Given the description of an element on the screen output the (x, y) to click on. 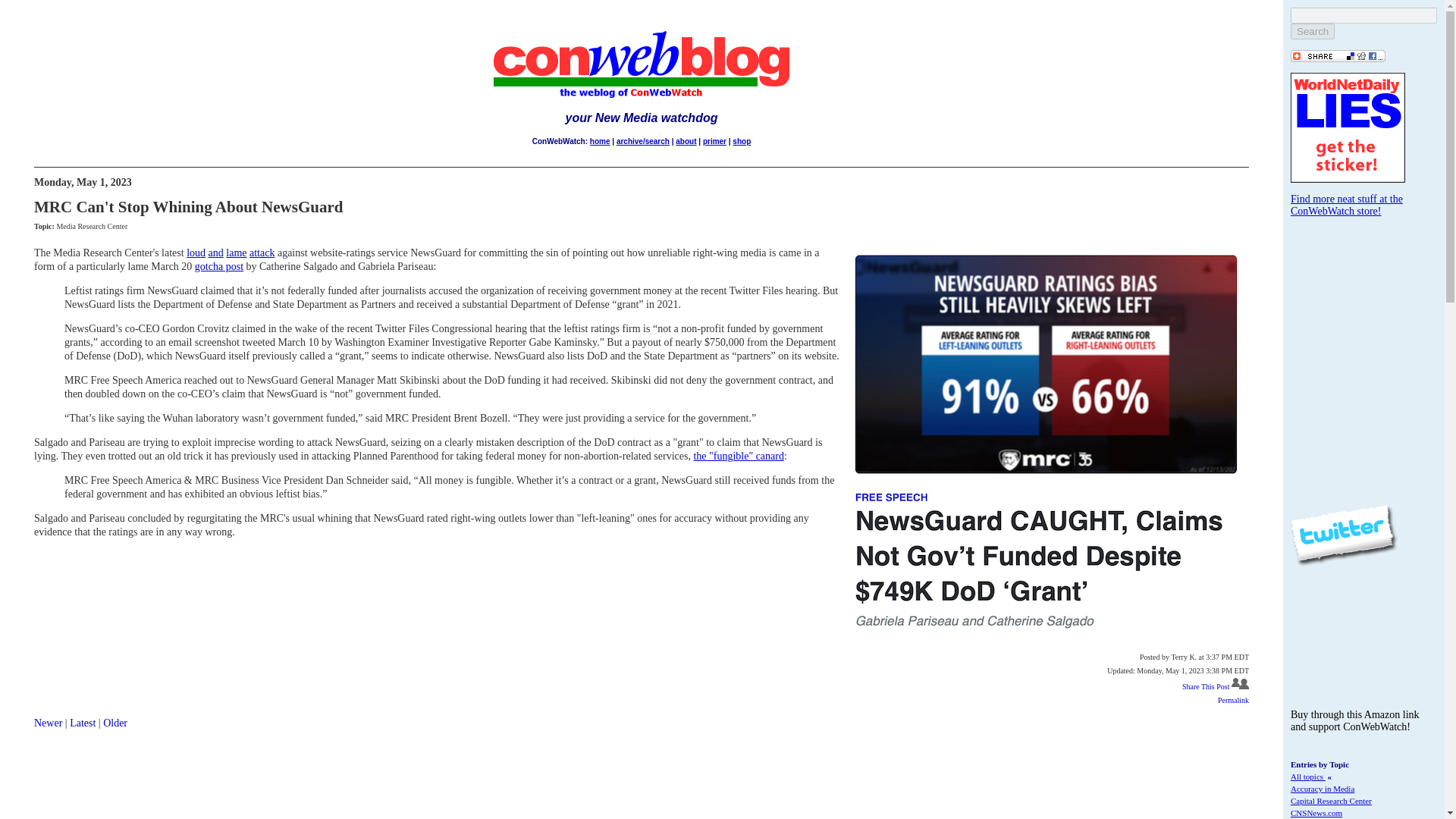
CNSNews.com (1316, 812)
primer (714, 141)
Newer (47, 722)
All topics (1307, 776)
gotcha post (219, 266)
and (216, 252)
home (599, 141)
Older (115, 722)
shop (741, 141)
Share This Post (1206, 686)
Capital Research Center (1330, 800)
the "fungible" canard (738, 455)
Search (1312, 31)
Find more neat stuff at the ConWebWatch store! (1346, 205)
about (685, 141)
